Given the description of an element on the screen output the (x, y) to click on. 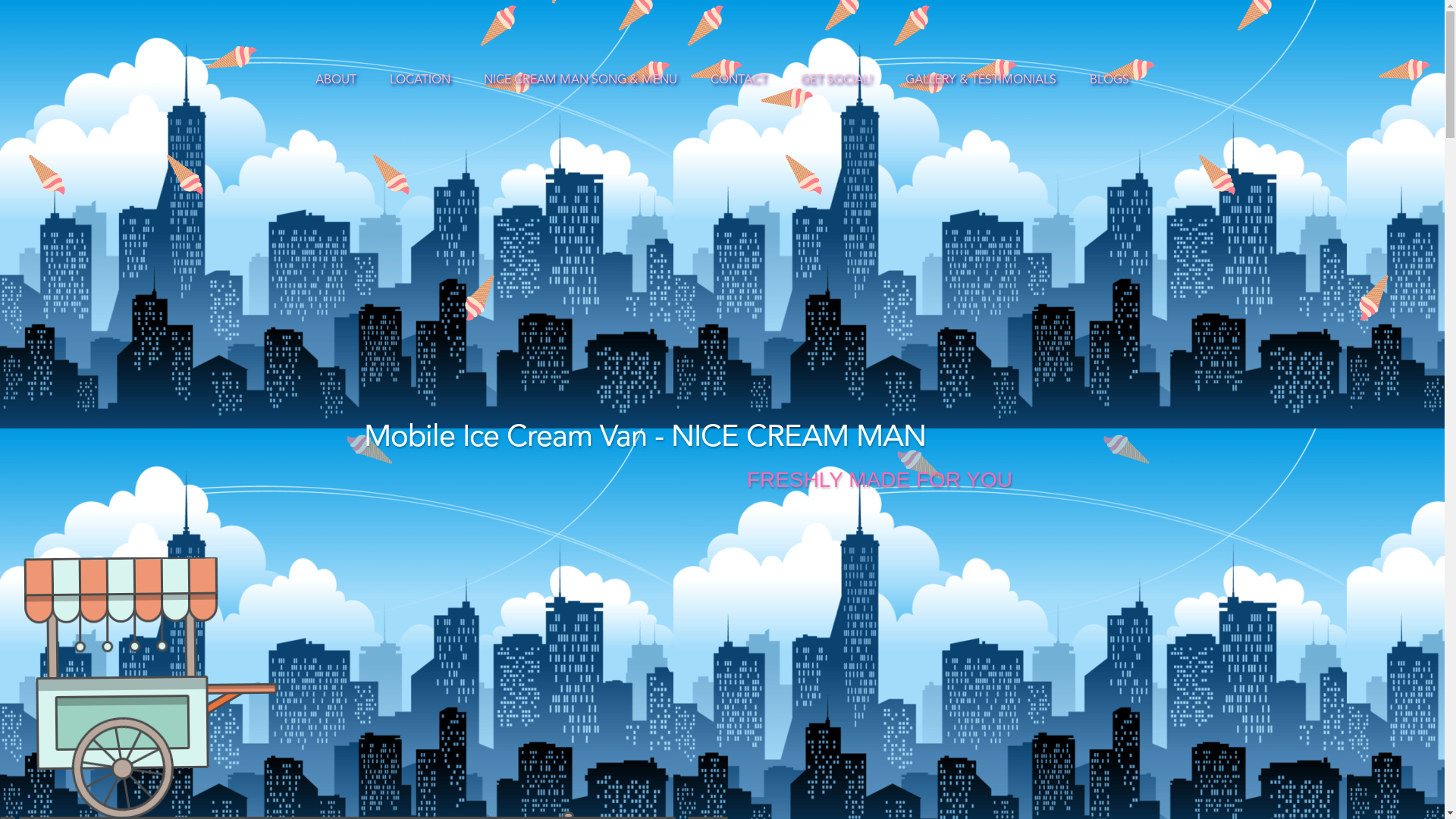
CONTACT Element type: text (738, 79)
LOCATION Element type: text (419, 79)
GET SOCIAL! Element type: text (836, 79)
NICE CREAM MAN SONG & MENU Element type: text (580, 79)
ABOUT Element type: text (335, 79)
BLOGS Element type: text (1109, 79)
GALLERY & TESTIMONIALS Element type: text (980, 79)
